Given the description of an element on the screen output the (x, y) to click on. 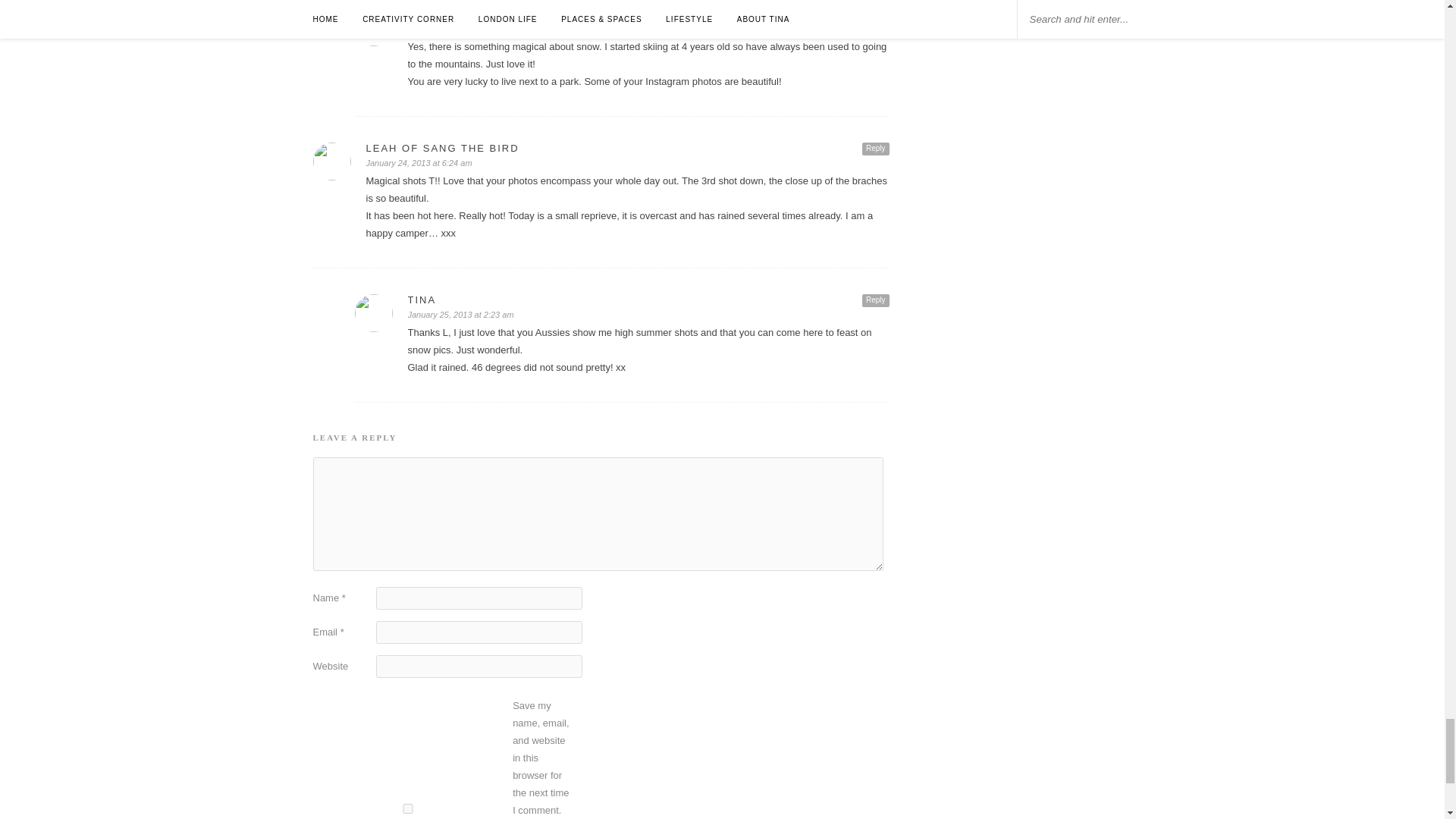
yes (407, 808)
